Given the description of an element on the screen output the (x, y) to click on. 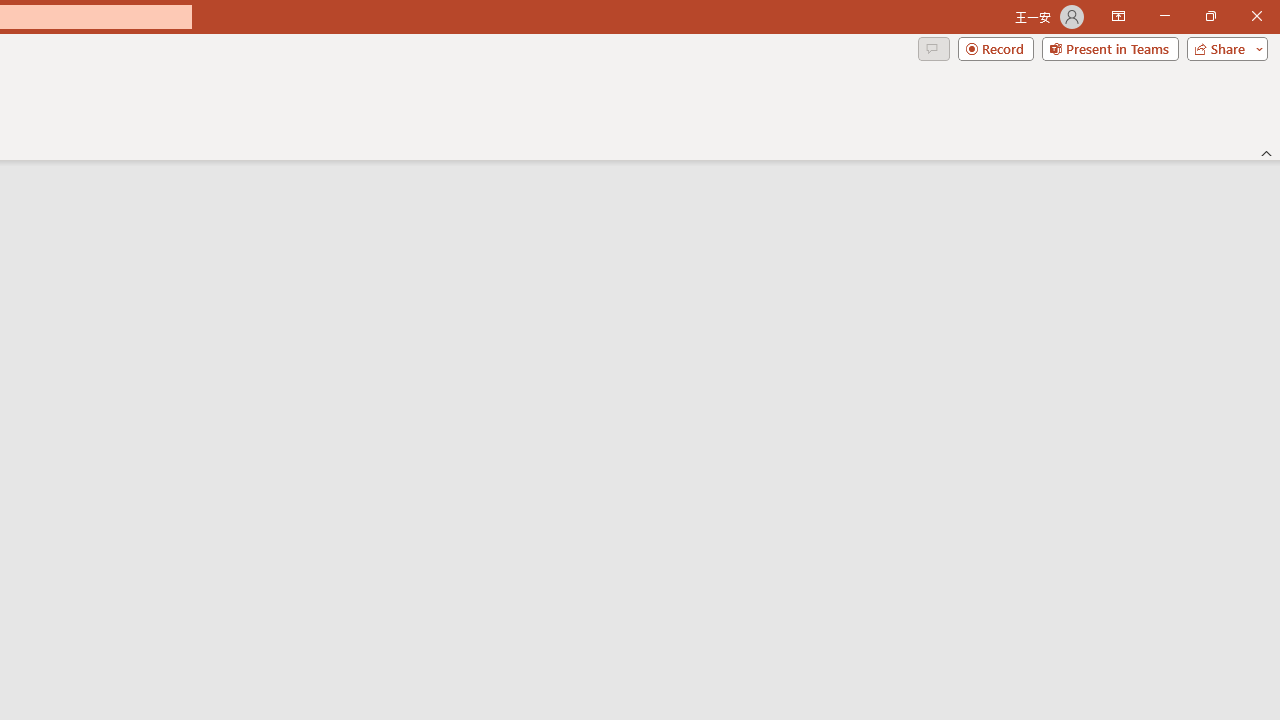
Ribbon Display Options (1118, 16)
Collapse the Ribbon (1267, 152)
Share (1223, 48)
Present in Teams (1109, 48)
Restore Down (1210, 16)
Minimize (1164, 16)
Close (1256, 16)
Comments (933, 48)
